Given the description of an element on the screen output the (x, y) to click on. 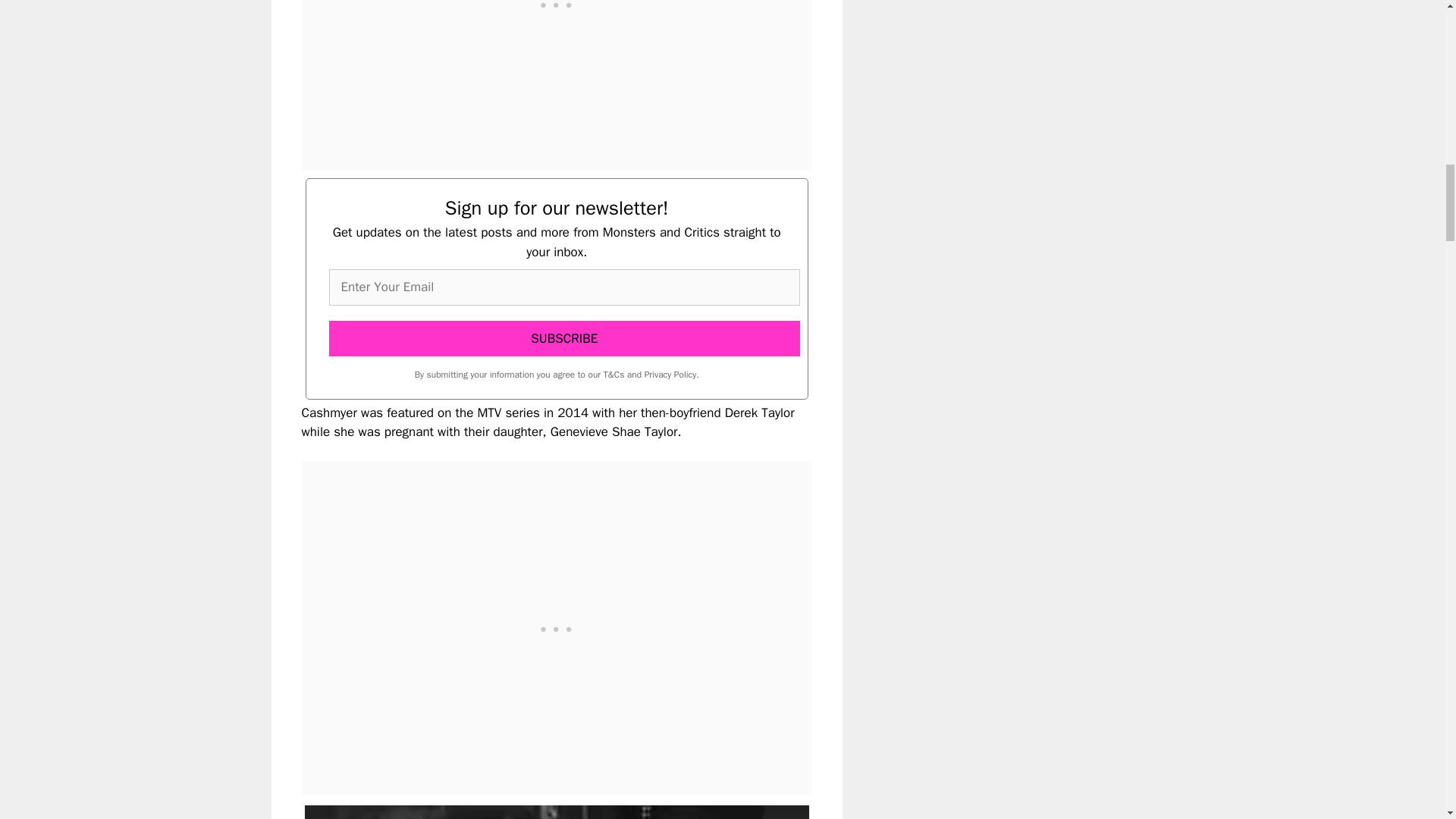
SUBSCRIBE (564, 339)
SUBSCRIBE (564, 339)
